Given the description of an element on the screen output the (x, y) to click on. 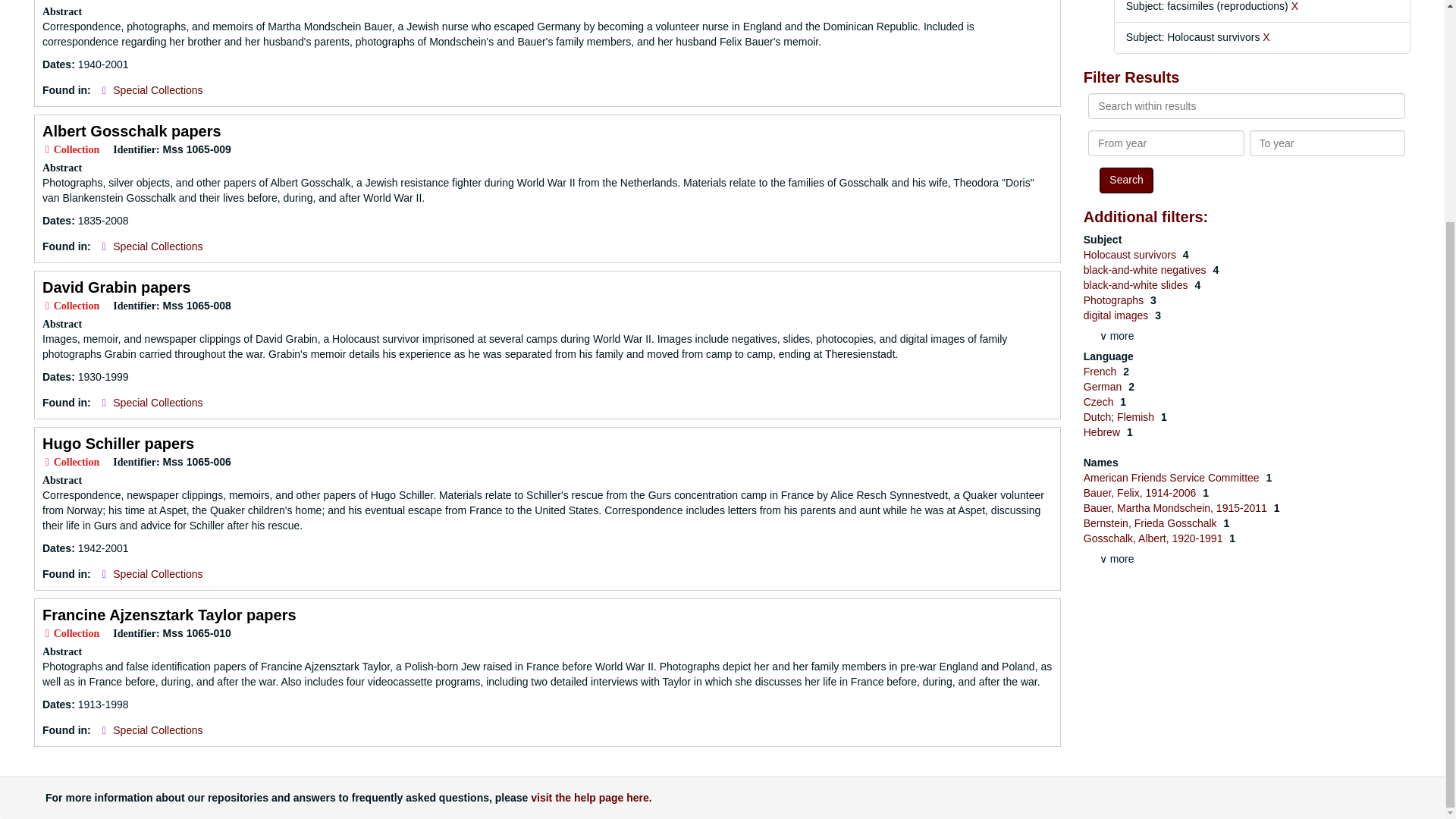
Search (1126, 180)
Francine Ajzensztark Taylor papers (169, 614)
Filter By 'black-and-white negatives' (1146, 269)
Filter By 'Holocaust survivors' (1131, 254)
Search (1126, 180)
Special Collections (157, 729)
Photographs (1115, 300)
Hugo Schiller papers (117, 443)
black-and-white negatives (1146, 269)
David Grabin papers (116, 287)
